Given the description of an element on the screen output the (x, y) to click on. 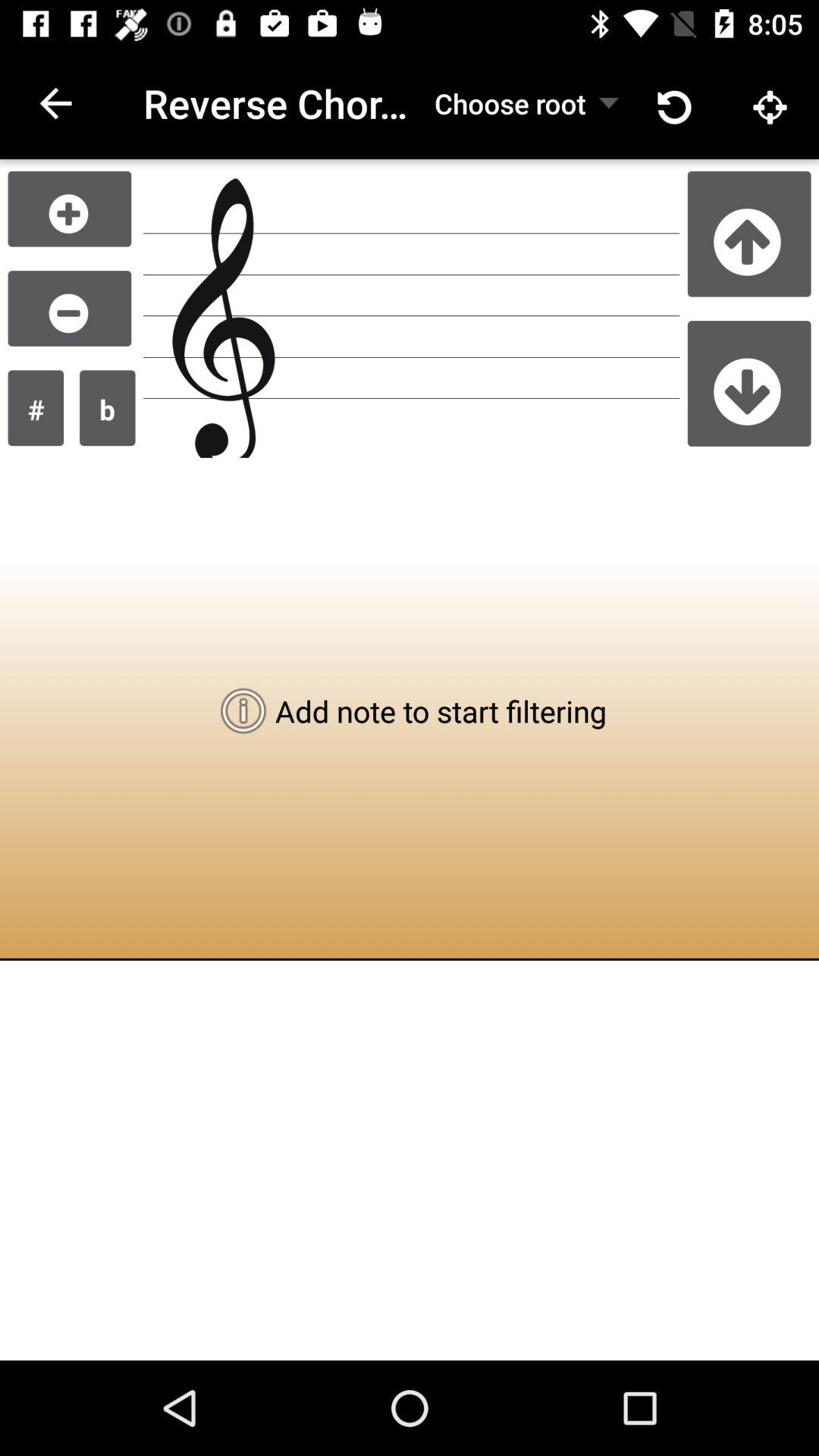
go down (749, 382)
